Given the description of an element on the screen output the (x, y) to click on. 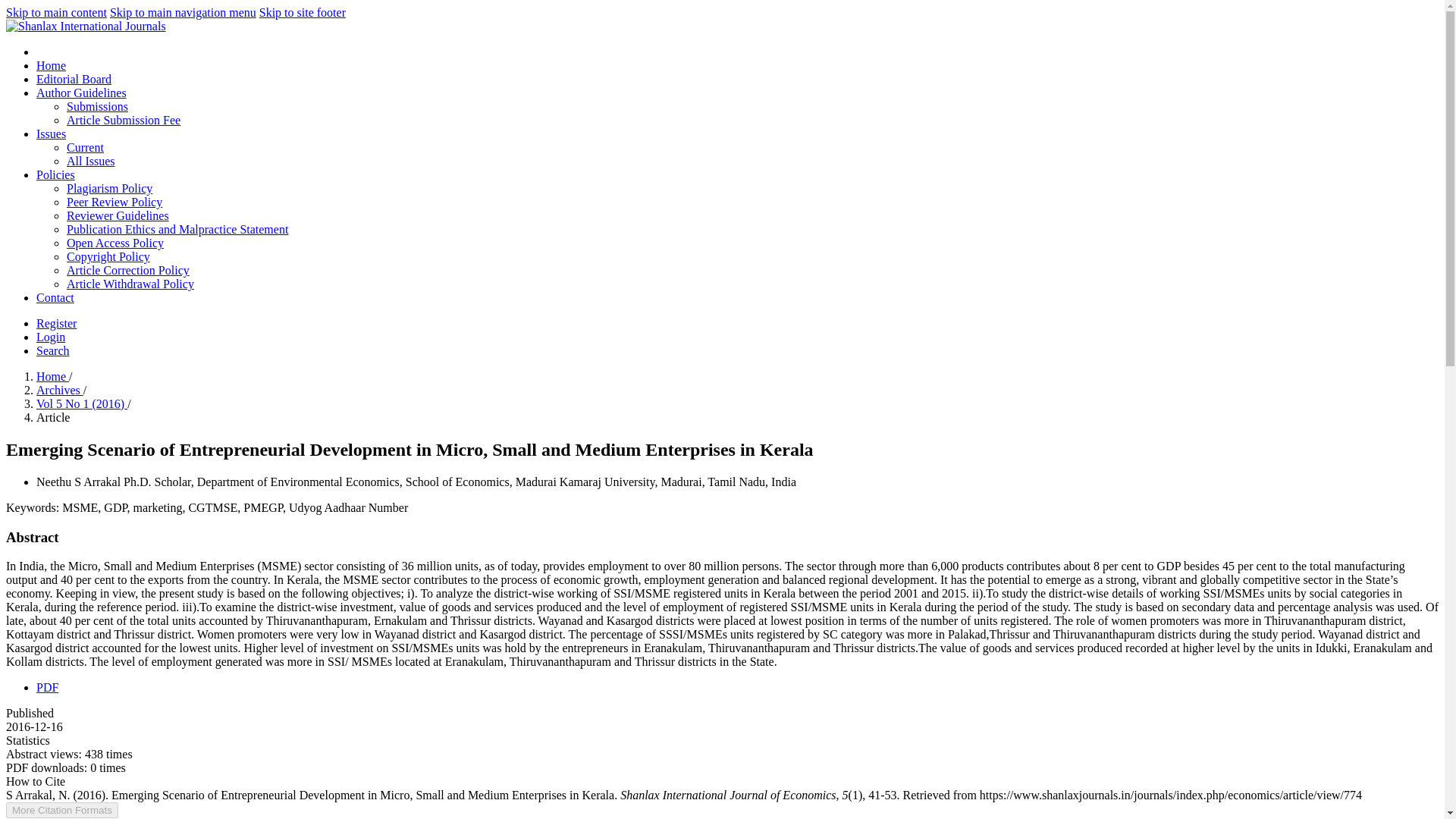
Login (50, 336)
Skip to main content (55, 11)
Publication Ethics and Malpractice Statement (177, 228)
Home (52, 376)
Copyright Policy (107, 256)
Archives (59, 390)
All Issues (90, 160)
Author Guidelines (81, 92)
Plagiarism Policy (109, 187)
Skip to site footer (302, 11)
